Given the description of an element on the screen output the (x, y) to click on. 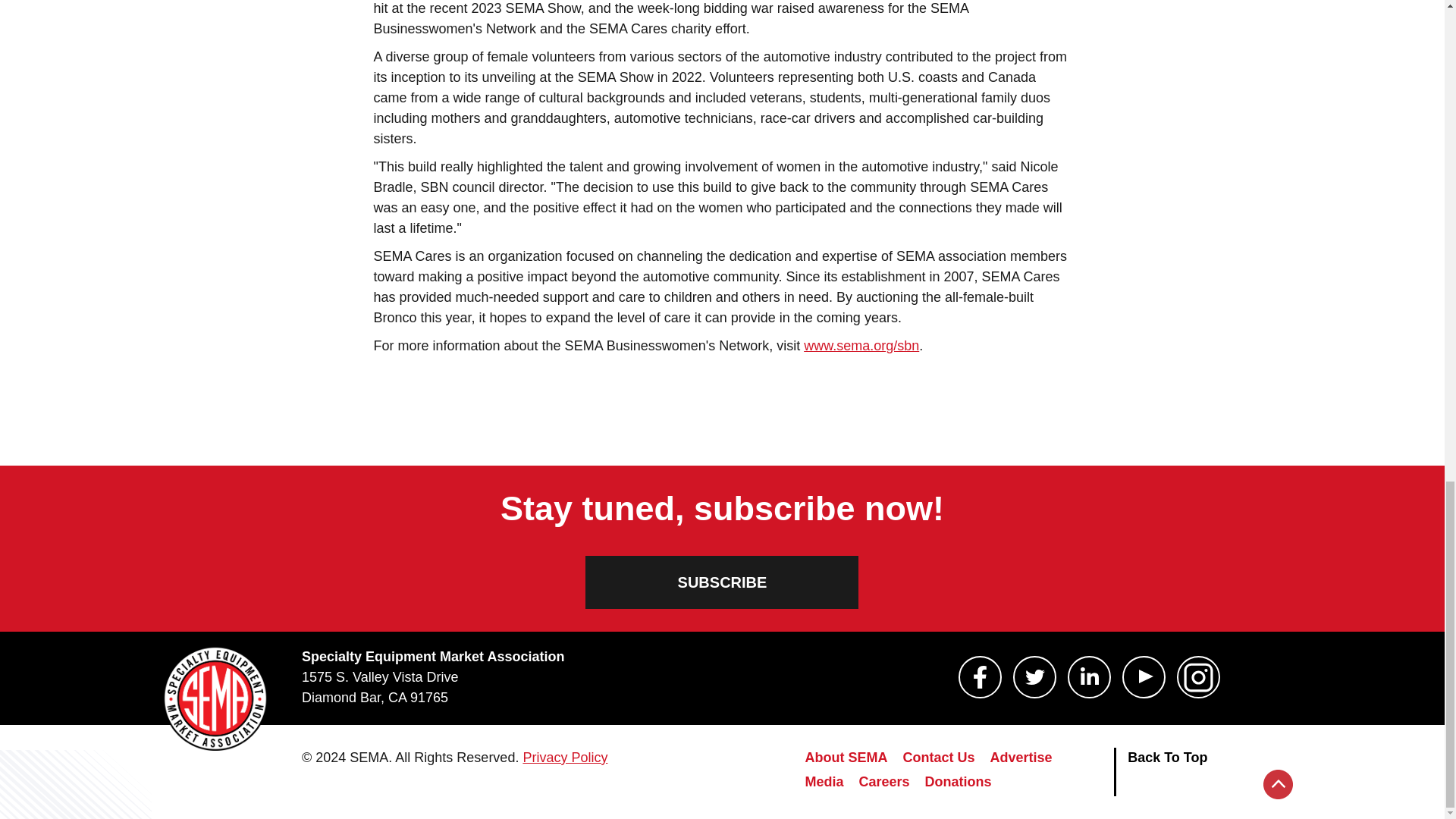
SEMA YouTube Link (1144, 677)
SEMA LinkedIn Link (1088, 677)
Contact Us (938, 759)
SEMA Facebook Link (979, 677)
Privacy Policy (564, 757)
About SEMA (846, 759)
SEMA Instagram Link (1198, 677)
Privacy Policy (564, 757)
SUBSCRIBE (722, 582)
SEMA Twitter Link (1035, 677)
